Given the description of an element on the screen output the (x, y) to click on. 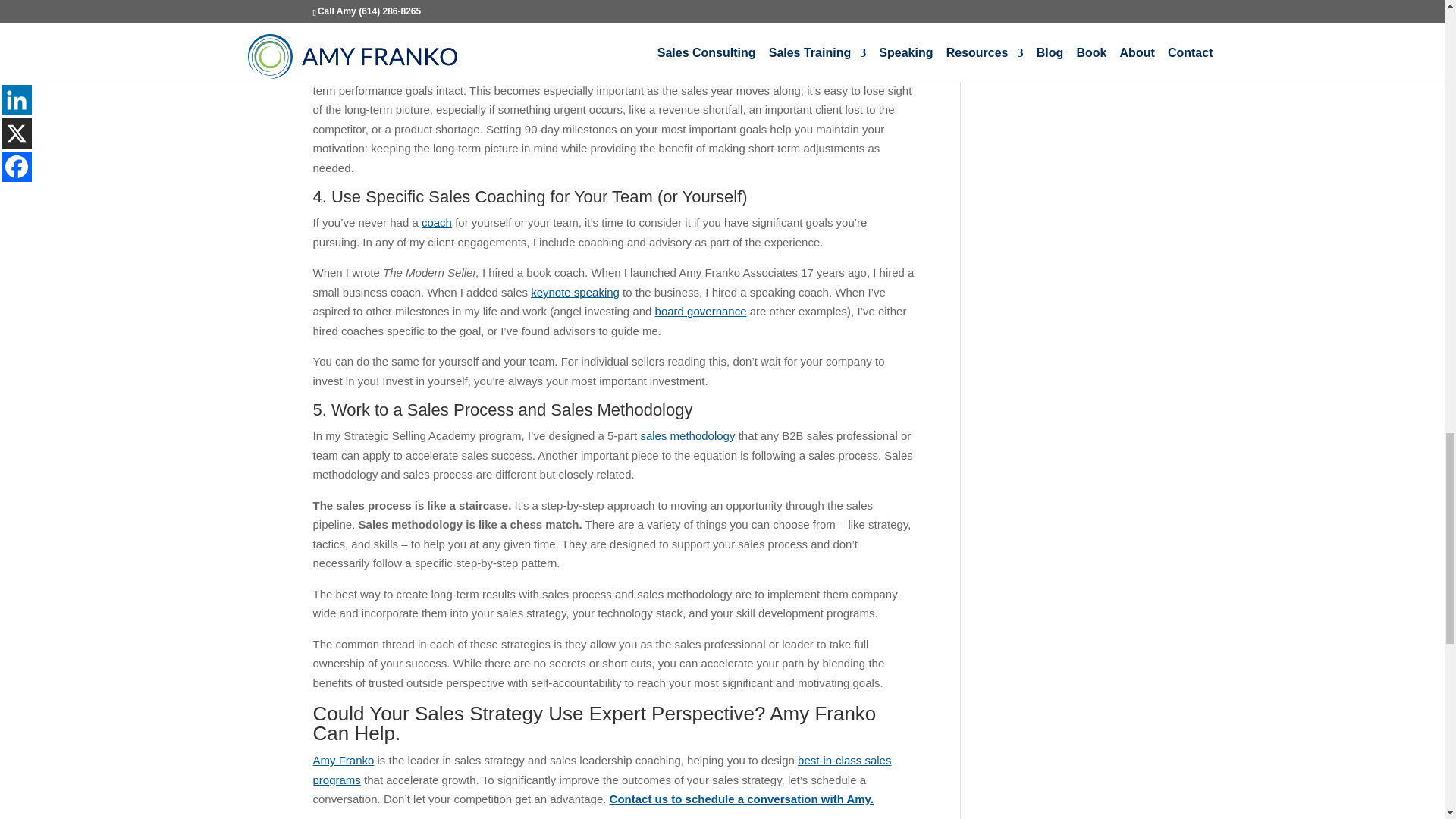
sales methodology (687, 435)
coach (436, 222)
best-in-class sales programs (602, 769)
Contact us to schedule a conversation with Amy. (741, 798)
strategic speed (623, 31)
Strategic speed (649, 51)
Amy Franko (343, 759)
The Modern Seller (723, 31)
board governance (700, 310)
keynote speaking (575, 291)
